Given the description of an element on the screen output the (x, y) to click on. 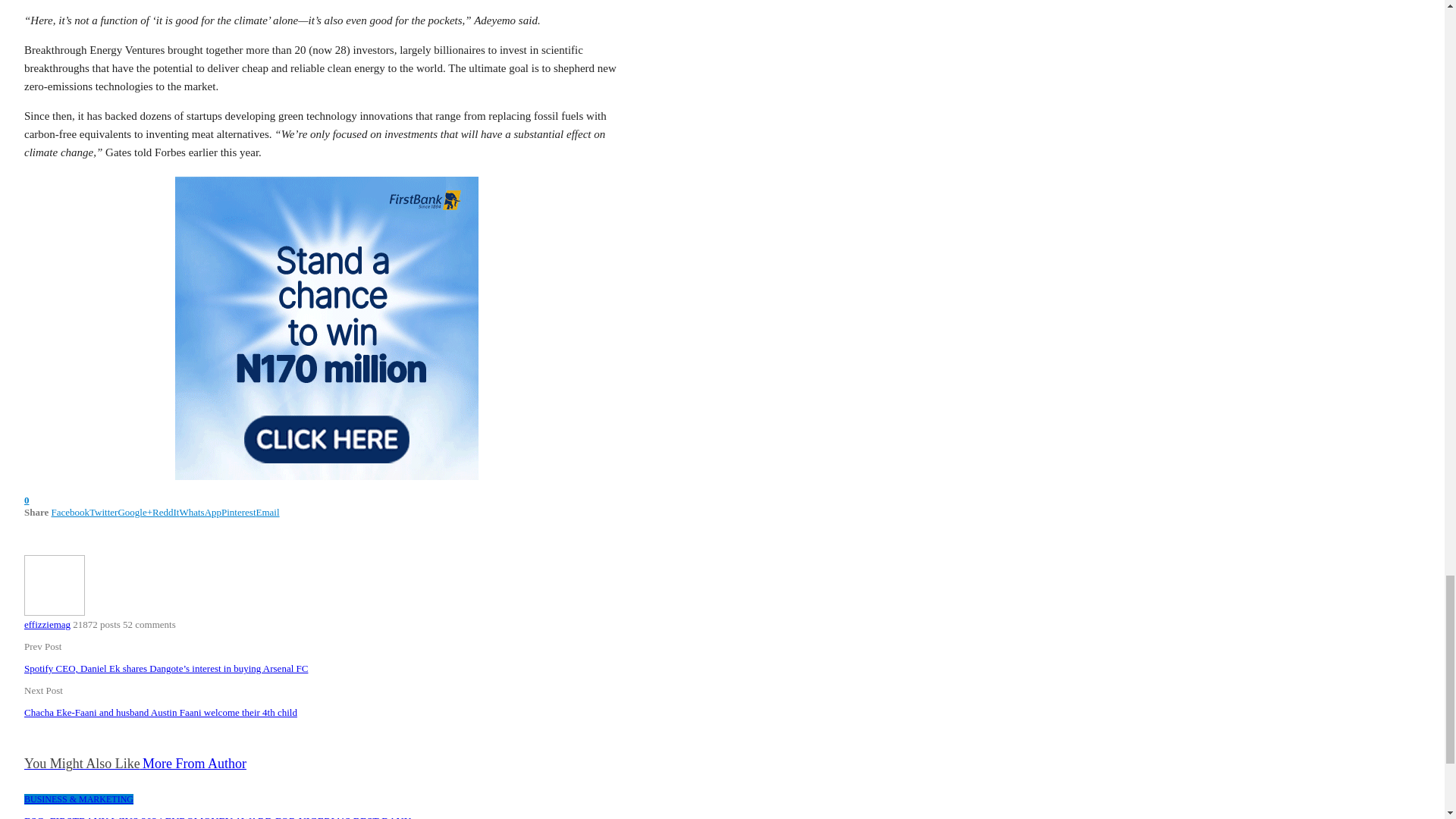
Browse Author Articles (54, 612)
